Given the description of an element on the screen output the (x, y) to click on. 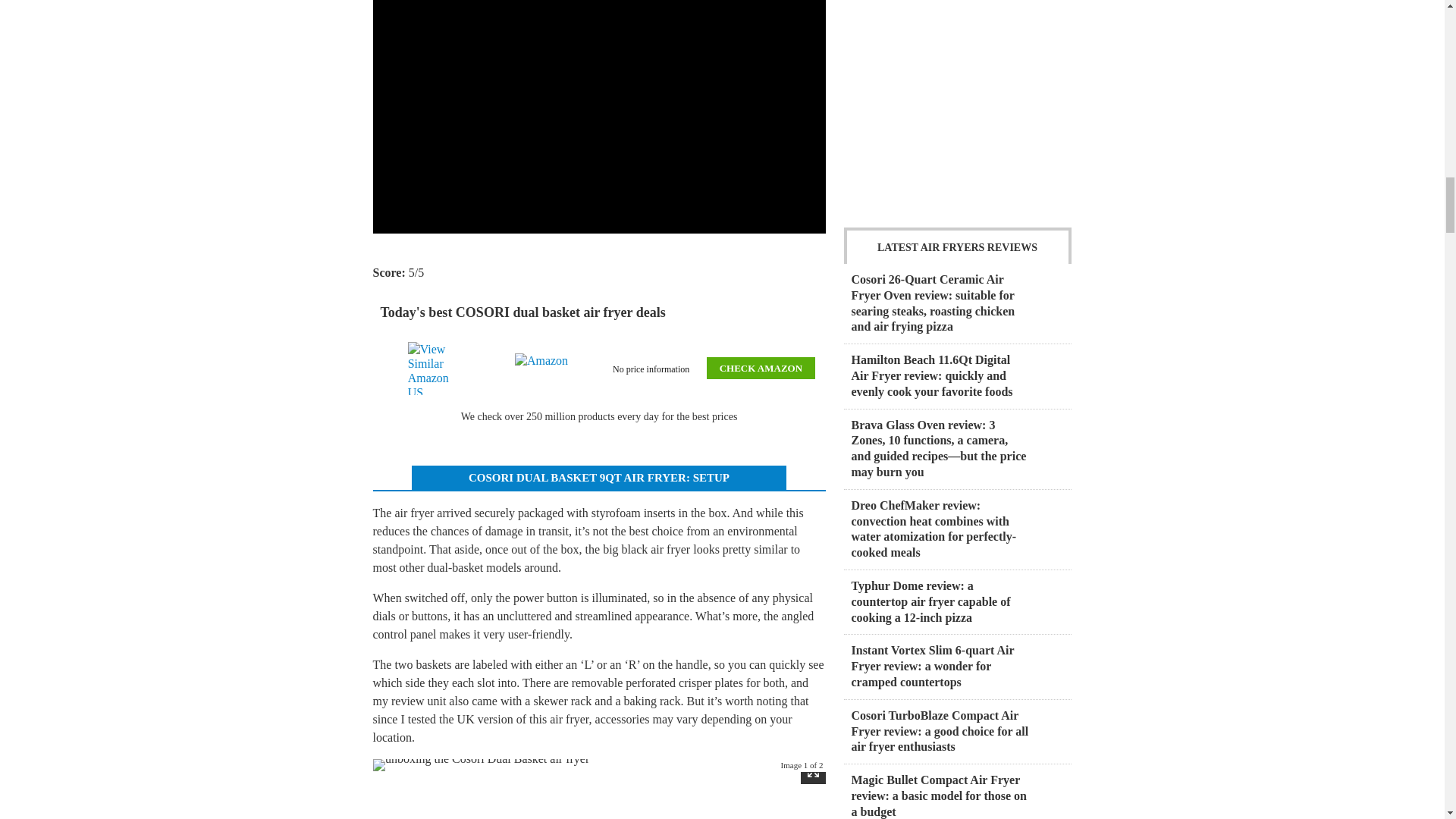
View Similar Amazon US (437, 368)
Amazon (545, 368)
